Given the description of an element on the screen output the (x, y) to click on. 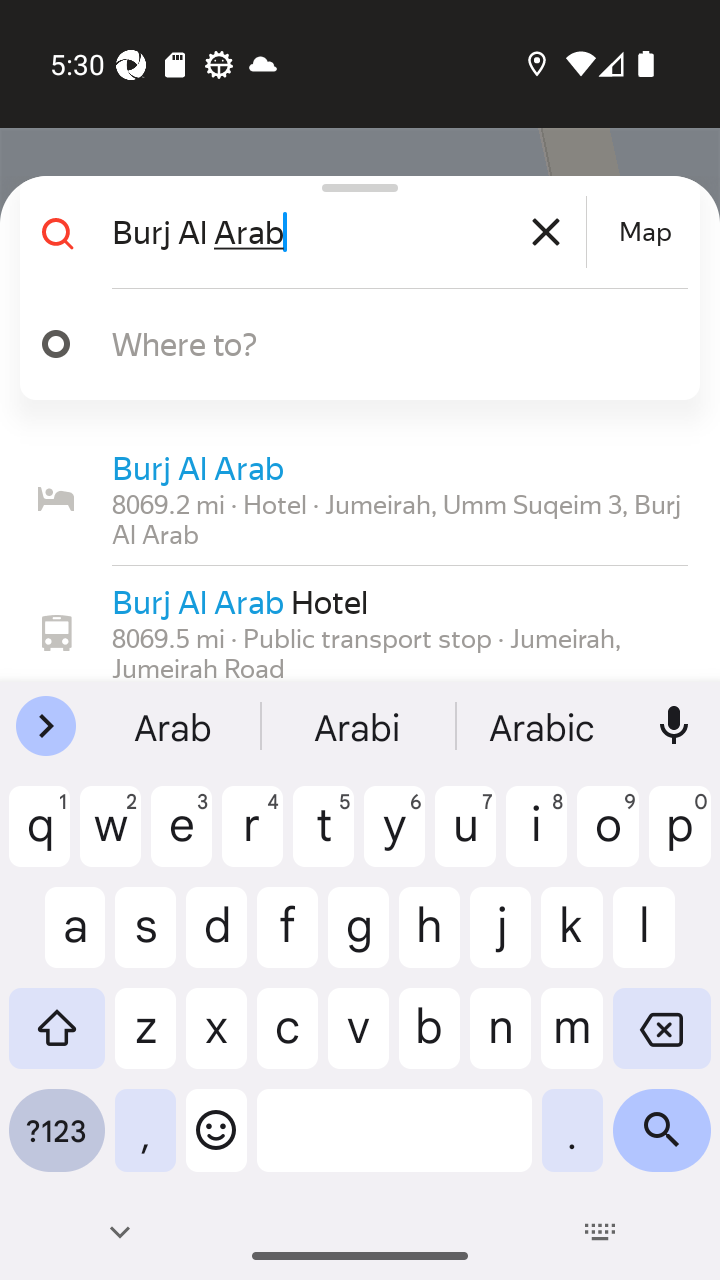
Burj Al Arab Clear text box Map Map (352, 232)
Map (645, 232)
Clear text box (546, 231)
Burj Al Arab (346, 232)
Where to? (352, 343)
Where to? (373, 343)
